Given the description of an element on the screen output the (x, y) to click on. 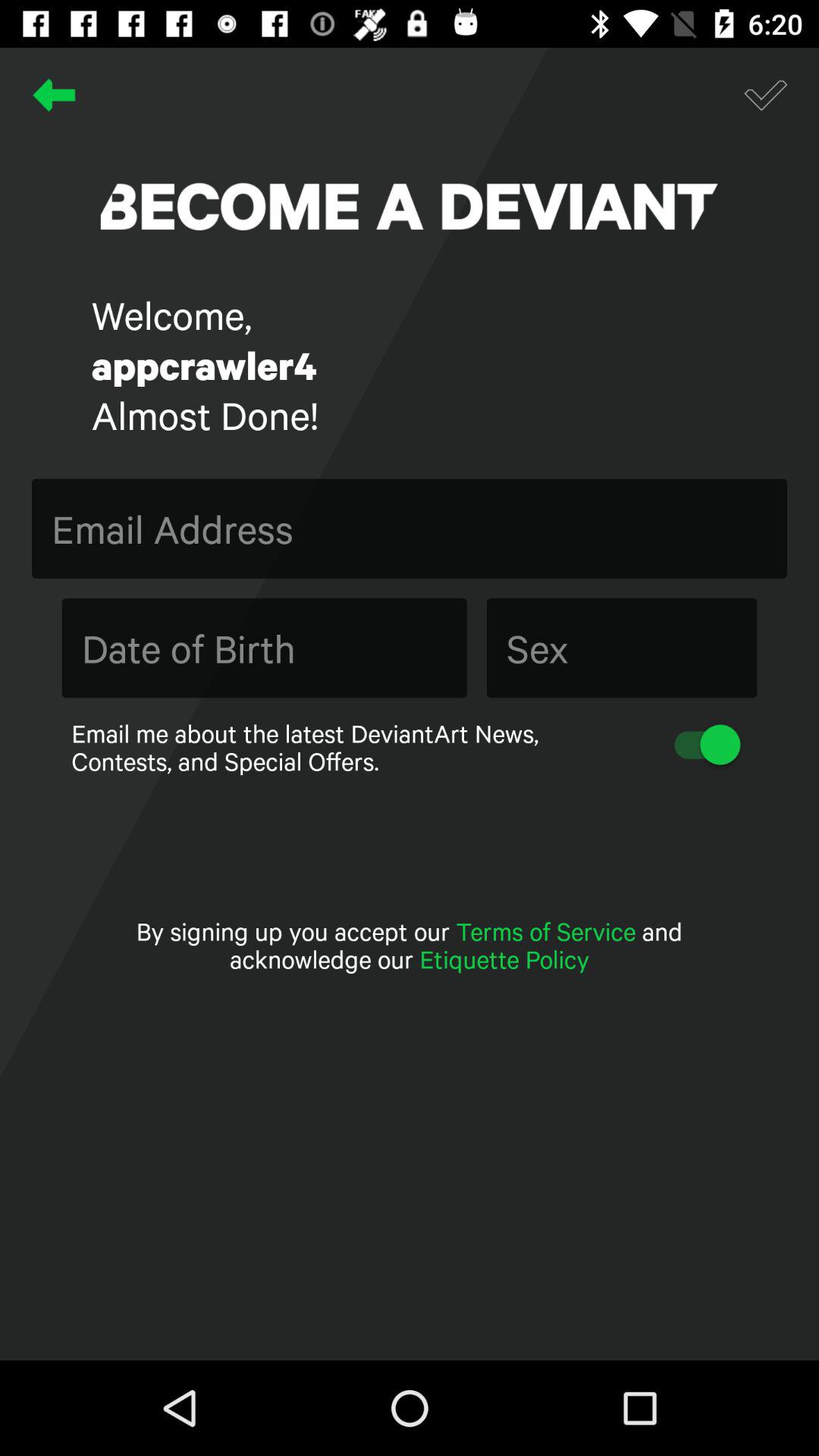
choose the item above email me about (621, 647)
